Given the description of an element on the screen output the (x, y) to click on. 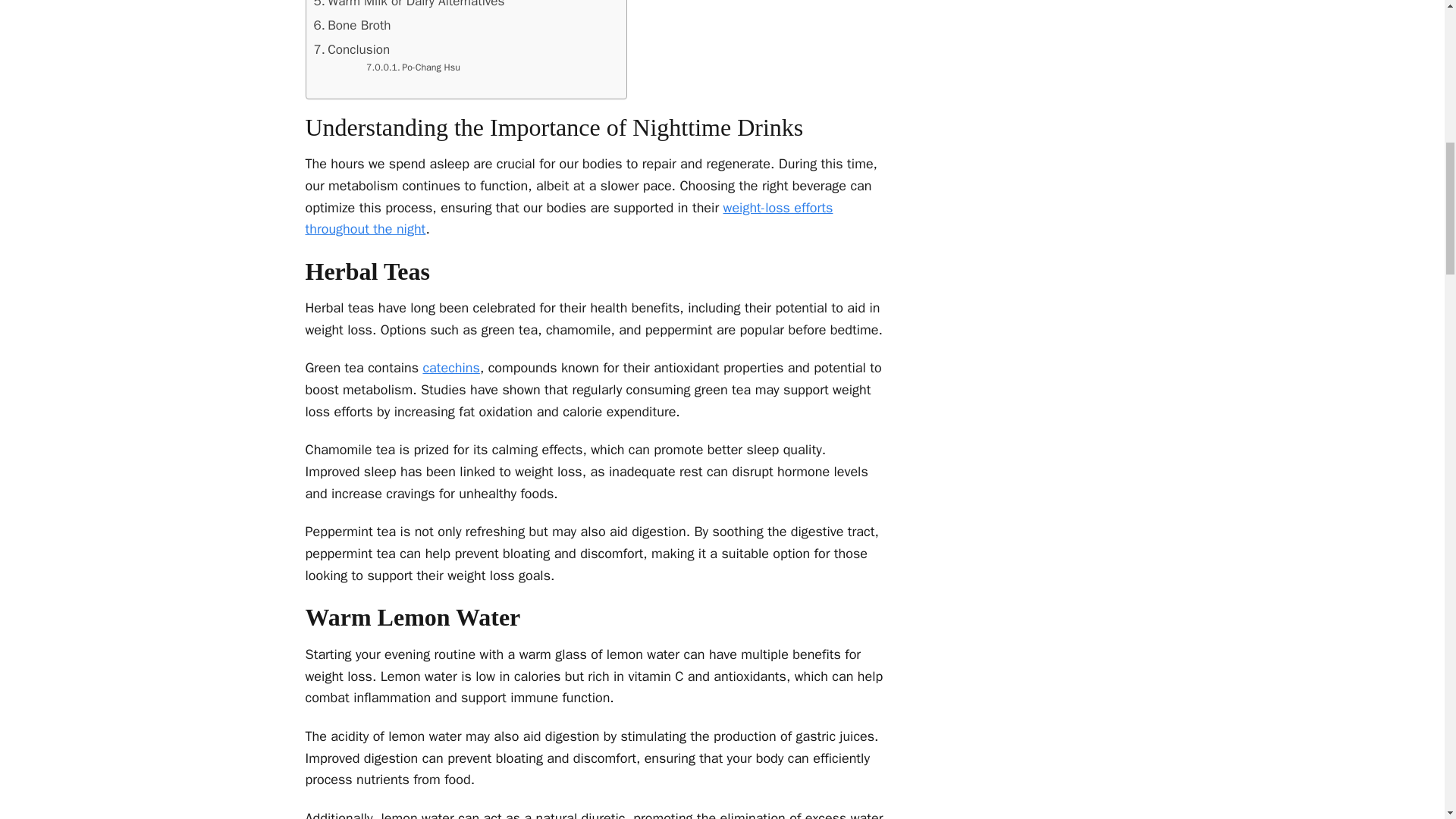
Bone Broth (352, 25)
Warm Milk or Dairy Alternatives (409, 5)
catechins (450, 367)
Conclusion (352, 49)
Conclusion (352, 49)
Warm Milk or Dairy Alternatives (409, 5)
weight-loss efforts throughout the night (568, 218)
Bone Broth (352, 25)
Po-Chang Hsu (413, 68)
